Given the description of an element on the screen output the (x, y) to click on. 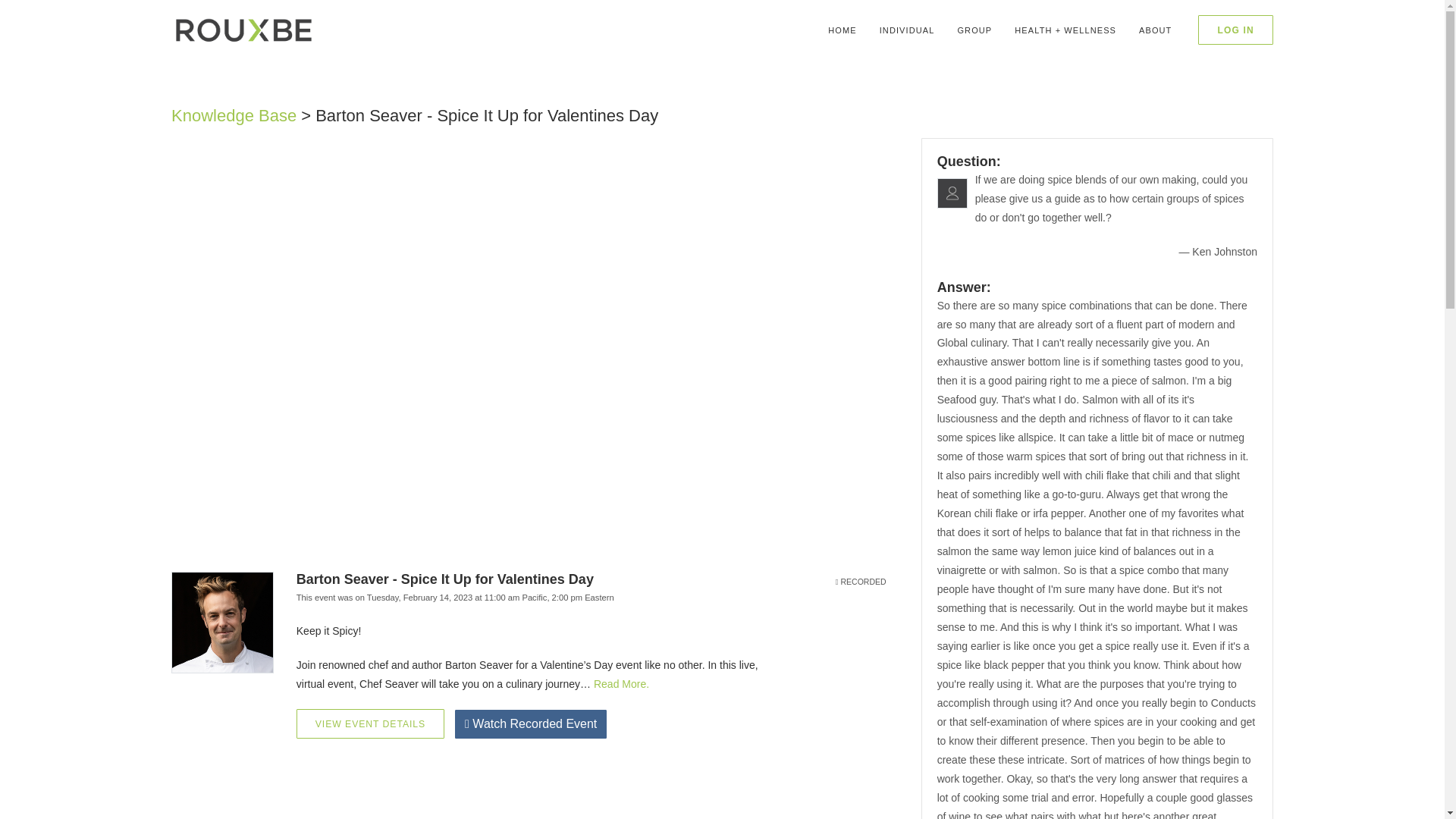
GROUP (973, 30)
Read More. (621, 684)
Ken J (952, 193)
VIEW EVENT DETAILS (370, 723)
Knowledge Base (234, 115)
Watch Recorded Event (530, 724)
INDIVIDUAL (906, 30)
LOG IN (1235, 30)
ABOUT (1154, 30)
